Given the description of an element on the screen output the (x, y) to click on. 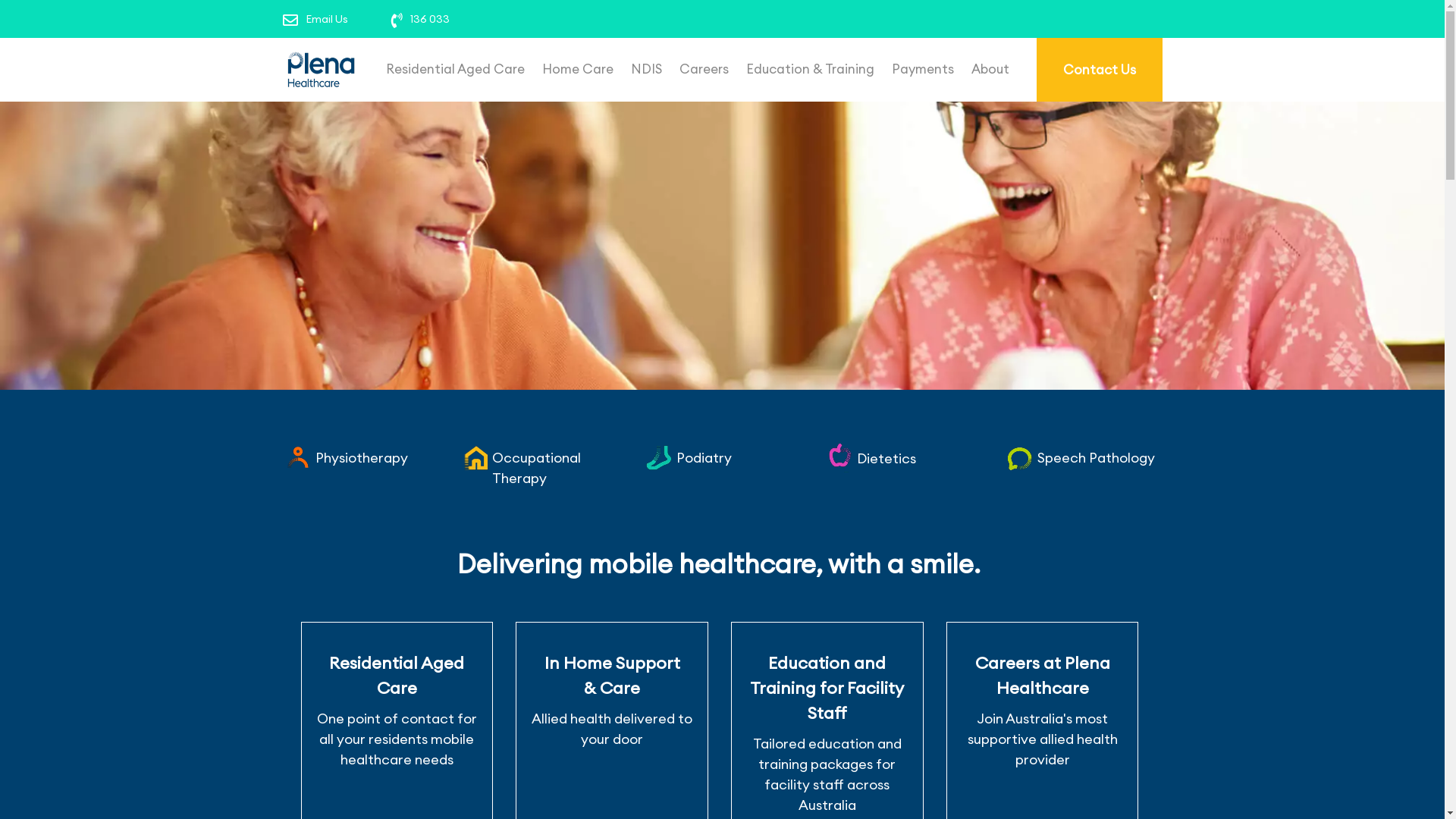
NDIS Element type: text (646, 68)
Occupational Therapy Element type: text (536, 467)
Contact Us Element type: text (1098, 69)
Residential Aged Care Element type: text (454, 68)
Email Us Element type: text (325, 18)
Speech Pathology Element type: text (1095, 457)
About Element type: text (989, 68)
Careers Element type: text (703, 68)
Dietetics Element type: text (886, 458)
Home Care Element type: text (576, 68)
Physiotherapy Element type: text (361, 457)
In Home Support
& Care
Allied health delivered to your door Element type: text (611, 689)
Education & Training Element type: text (810, 68)
Podiatry Element type: text (703, 457)
Payments Element type: text (922, 68)
136 033 Element type: text (429, 18)
